Given the description of an element on the screen output the (x, y) to click on. 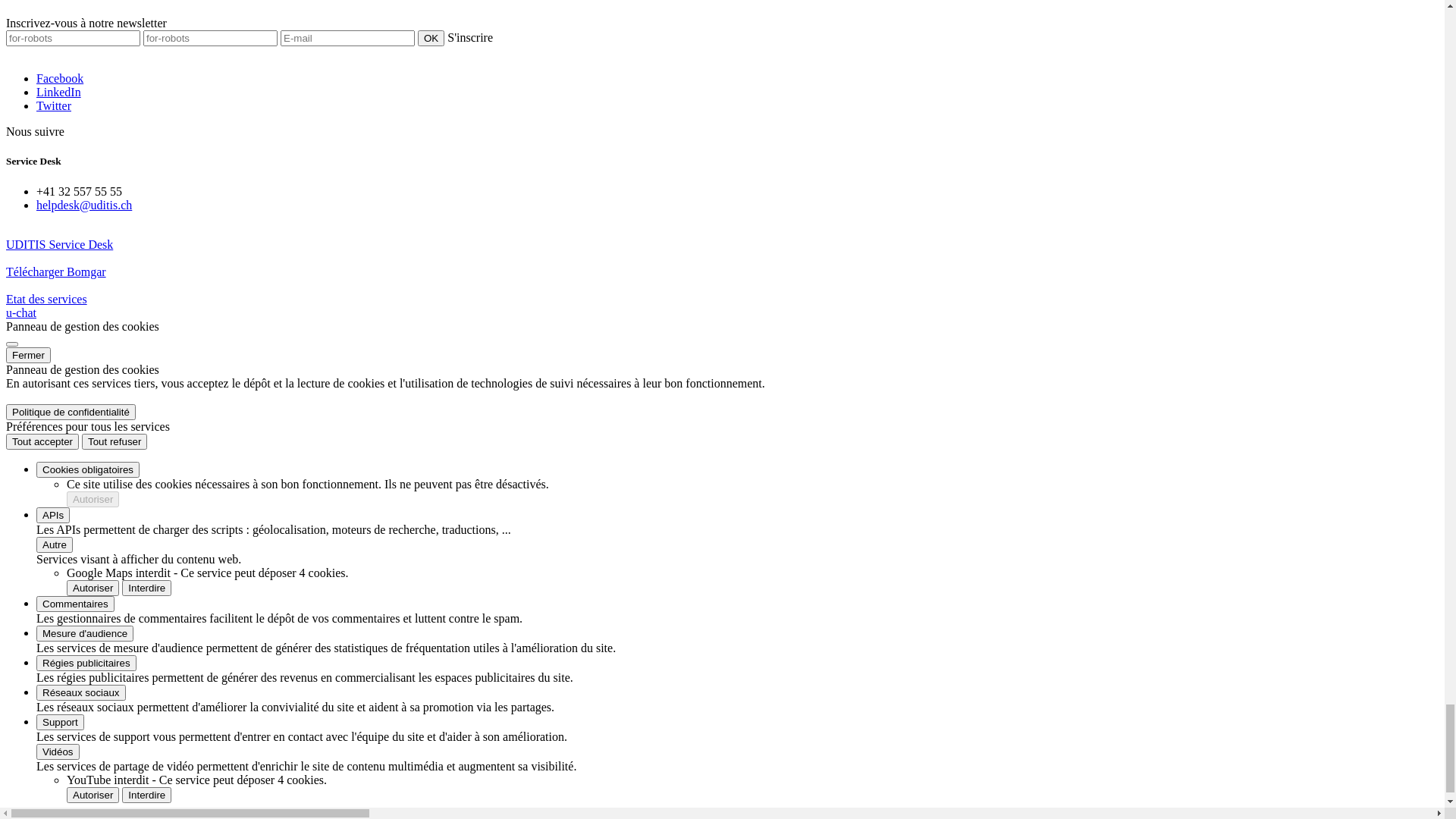
Menu Element type: text (20, 216)
Contactez-nous ! Element type: text (107, 611)
Equipe Element type: text (83, 570)
u-info@uditis.ch Element type: text (77, 51)
Cloud & Infrastructures Element type: text (124, 256)
U-Secure Element type: text (119, 420)
www.uditis.ch Element type: text (71, 191)
Solutions en ligne Element type: text (110, 447)
Online Solutions Element type: text (107, 297)
CRM Assurances Sociales | GIS Element type: text (175, 529)
Blockchain Element type: text (94, 351)
A propos Element type: text (88, 556)
Services & Solutions Element type: text (87, 365)
Certify Element type: text (114, 515)
Twitter Element type: text (83, 124)
Jobs Element type: text (76, 597)
Facebook Element type: text (89, 97)
U-Host Element type: text (114, 392)
OK Element type: text (461, 83)
e-ATA Element type: text (112, 501)
U-Back-up Element type: text (123, 406)
Timelead Element type: text (119, 474)
Easyvista Element type: text (120, 461)
WebMaker Element type: text (123, 488)
Sites web & e-commerce Element type: text (127, 283)
Management Agile Element type: text (112, 338)
U-Monitor Element type: text (123, 433)
Service Management Element type: text (117, 269)
u-info@uditis.ch Element type: text (77, 177)
LinkedIn Element type: text (88, 110)
OK Element type: text (186, 67)
Accueil Element type: hover (73, 12)
UDITIS SA Element type: text (65, 542)
Services en ligne Element type: text (107, 379)
